Given the description of an element on the screen output the (x, y) to click on. 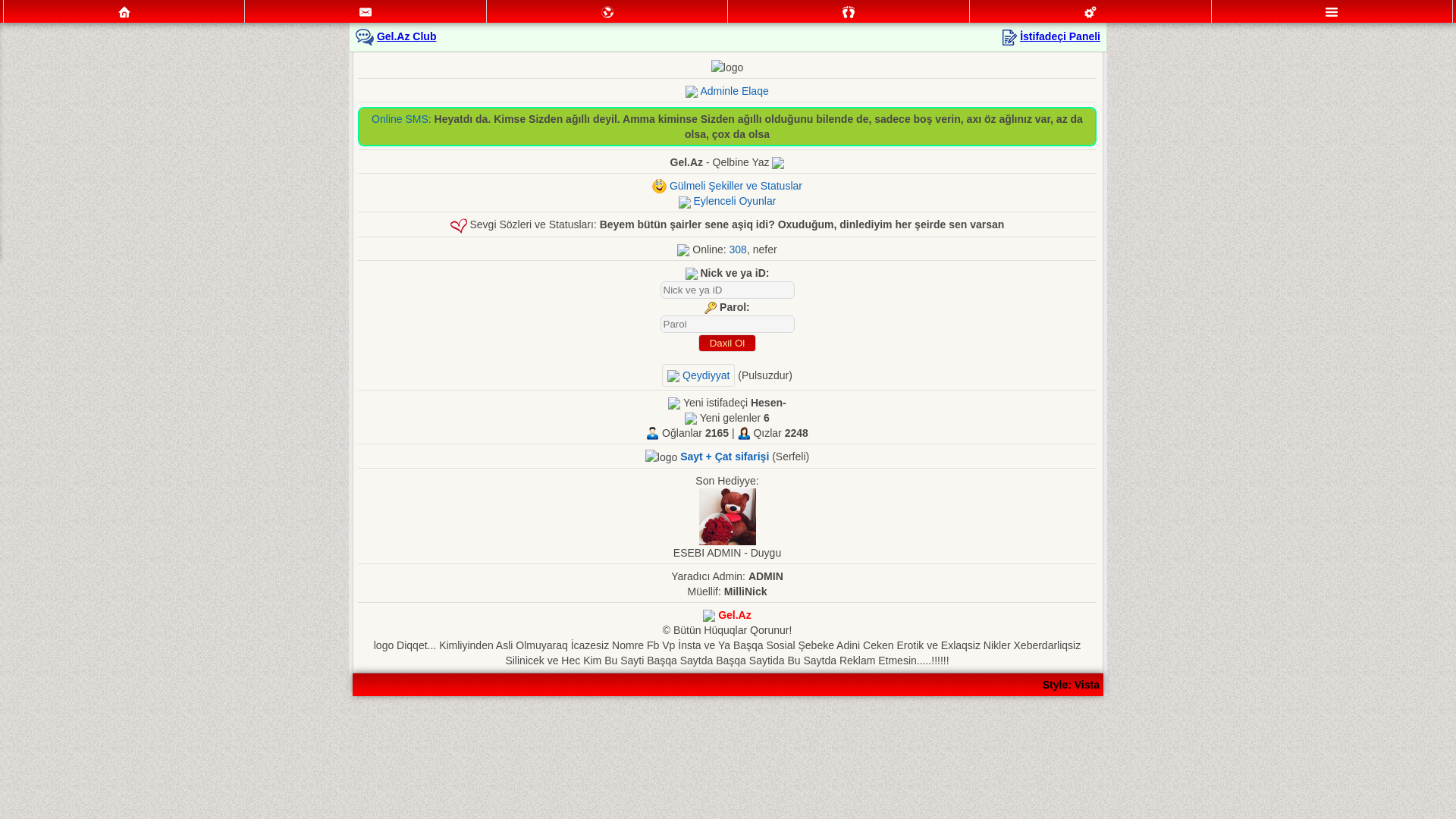
Adminle Elaqe Element type: text (733, 90)
Mesajlar Element type: hover (365, 11)
Style: Vista Element type: text (1070, 684)
308 Element type: text (737, 249)
Ana Sehife Element type: hover (124, 12)
Mektublar Element type: hover (607, 12)
Gel.Az Element type: text (734, 614)
Ana Sehife Element type: hover (123, 11)
Mektublar Element type: hover (607, 11)
nick Element type: hover (726, 289)
Gel.Az Club Element type: text (406, 36)
Parol Element type: hover (726, 323)
Eylenceli Oyunlar Element type: text (734, 200)
Qeydiyyat Element type: text (698, 375)
Online SMS Element type: text (399, 118)
Daxil Ol Element type: text (726, 342)
Qonaqlar Element type: hover (848, 11)
Mesajlar Element type: hover (365, 12)
Qonaqlar Element type: hover (848, 12)
